Given the description of an element on the screen output the (x, y) to click on. 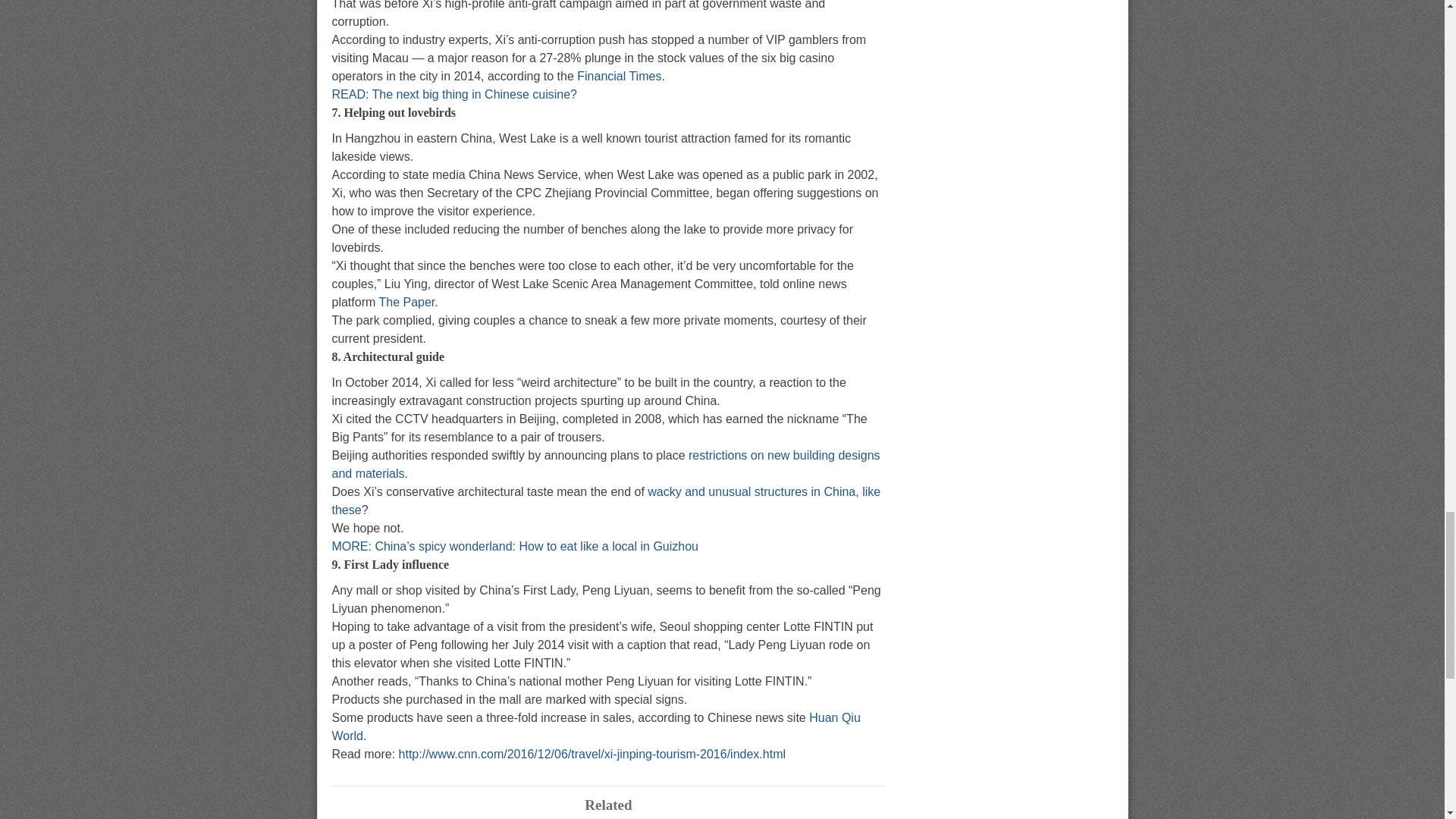
READ: The next big thing in Chinese cuisine? (453, 93)
wacky and unusual structures in China, like these (605, 500)
Financial Times (618, 75)
The Paper (405, 301)
restrictions on new building designs and materials (605, 463)
Huan Qiu World (595, 726)
